Given the description of an element on the screen output the (x, y) to click on. 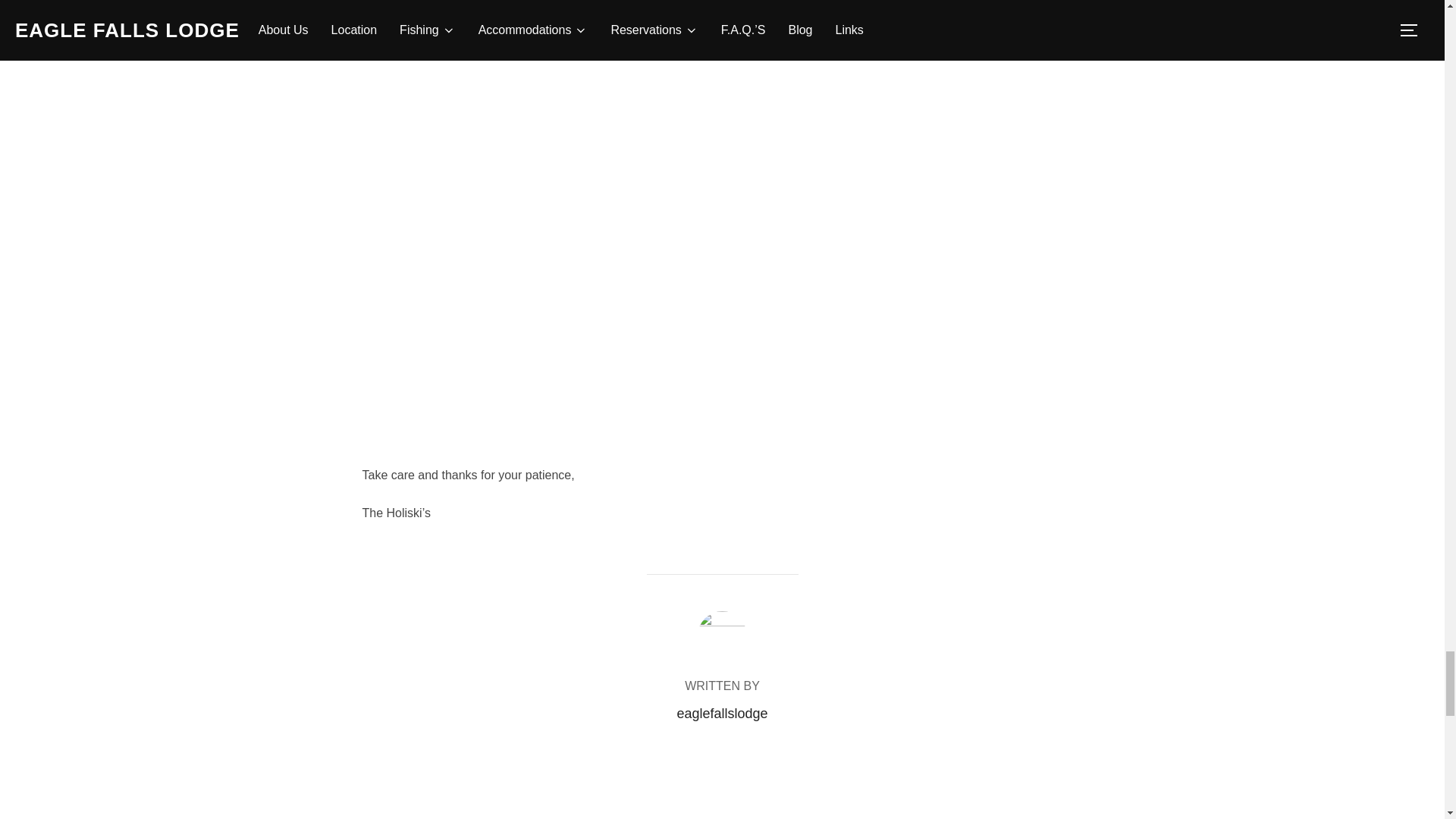
Posts by eaglefallslodge (722, 713)
